Given the description of an element on the screen output the (x, y) to click on. 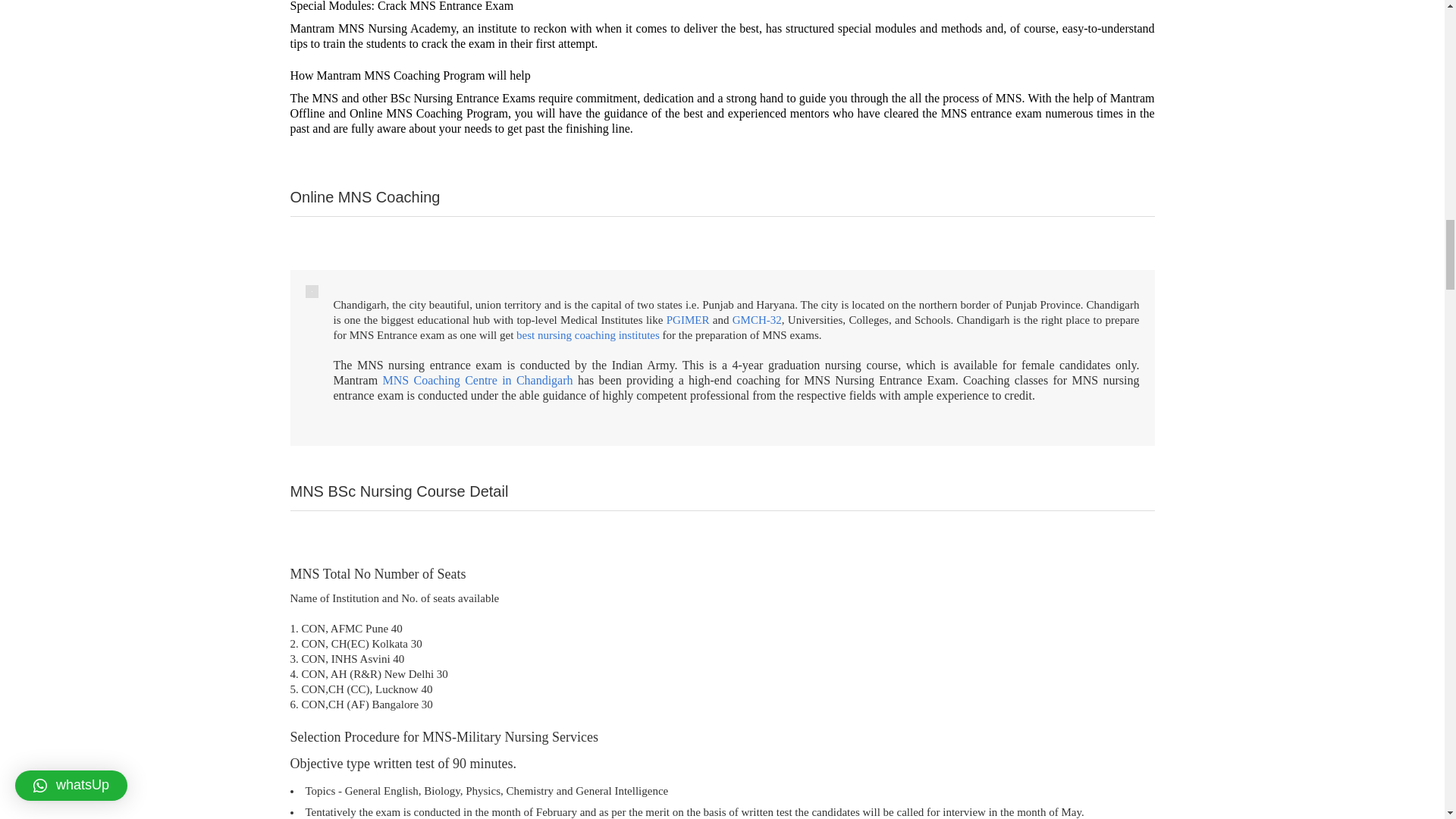
best nursing coaching institutes (587, 335)
MNS Nursing Academy (396, 28)
Online MNS Coaching (406, 113)
GMCH-32 (756, 319)
MNS Coaching Centre in Chandigarh (476, 379)
PGIMER (688, 319)
